Given the description of an element on the screen output the (x, y) to click on. 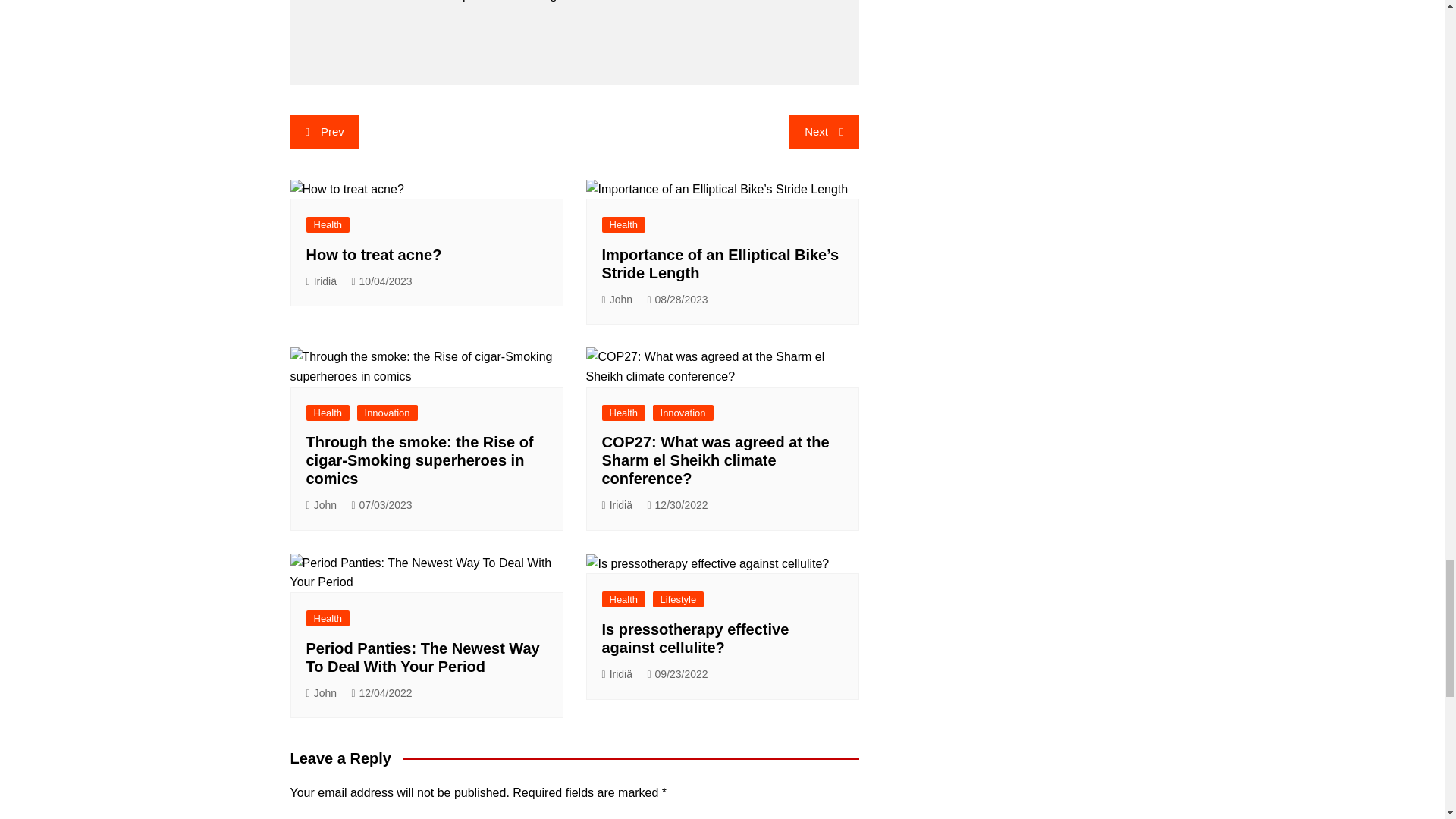
Health (624, 224)
Health (327, 224)
Prev (323, 131)
Next (824, 131)
How to treat acne? (373, 254)
